Given the description of an element on the screen output the (x, y) to click on. 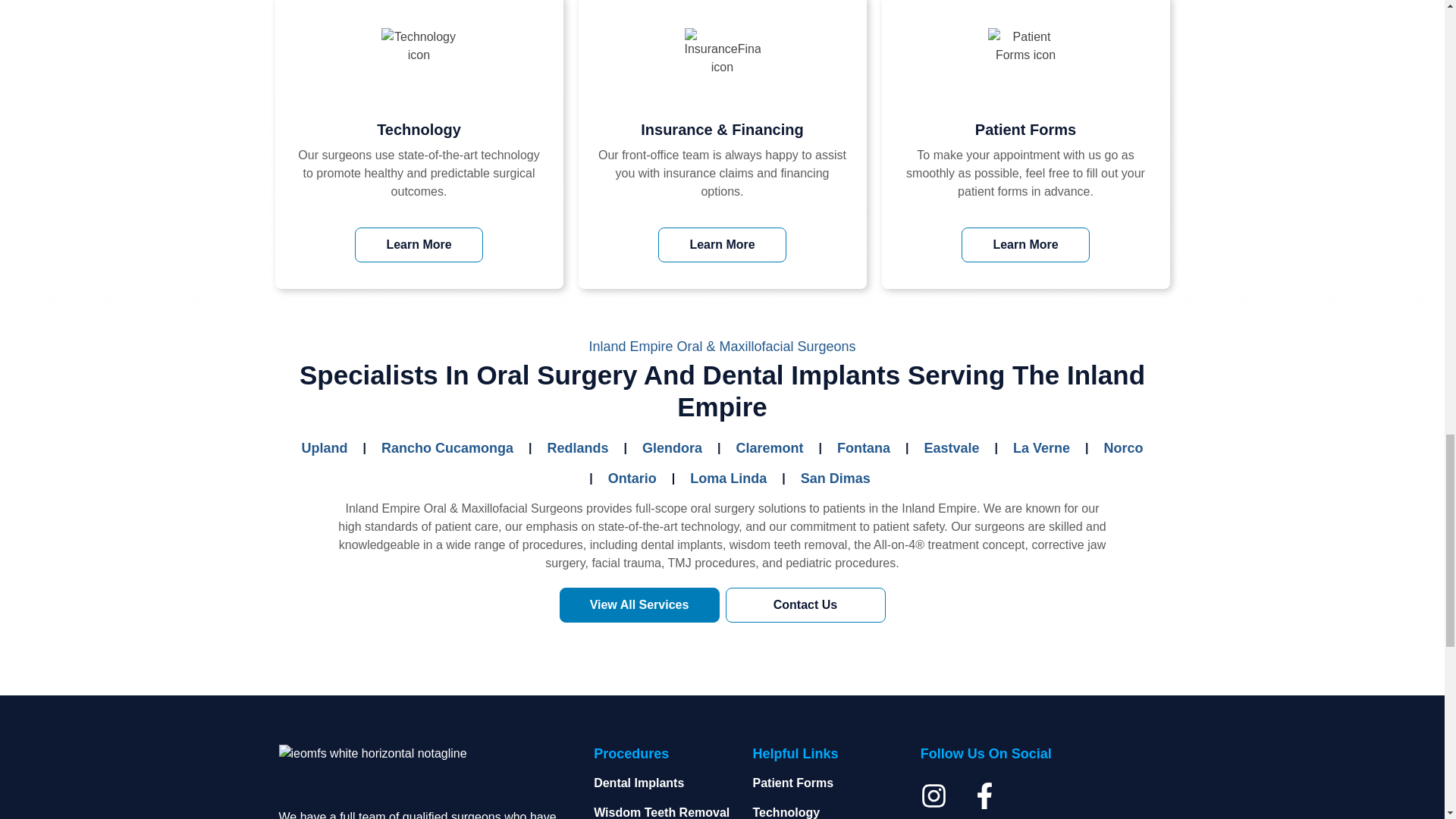
ieomfs white horizontal notagline (419, 776)
Patient Forms icon (1024, 60)
InsuranceFinancing icon (722, 60)
Technology icon (418, 60)
